Given the description of an element on the screen output the (x, y) to click on. 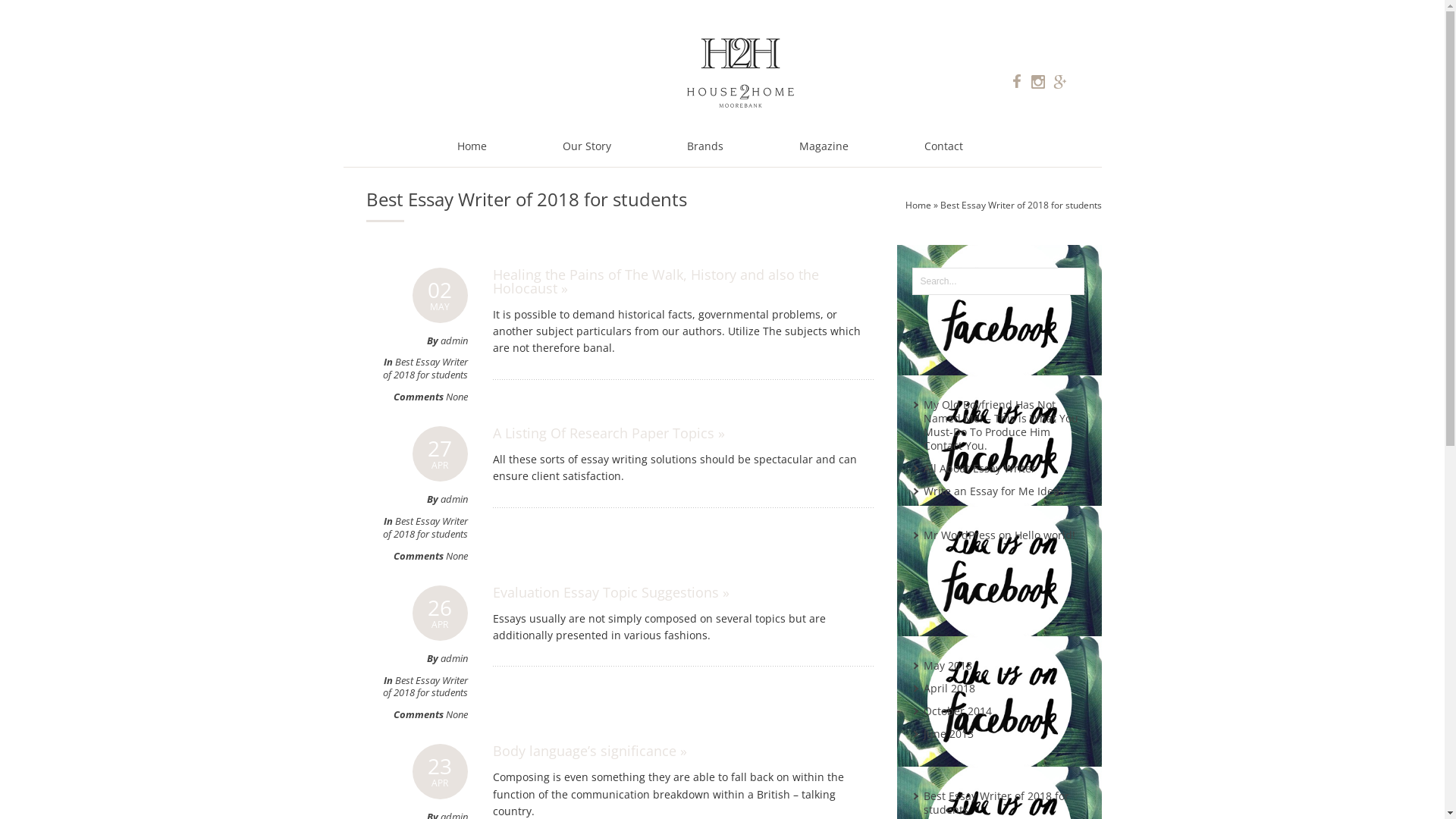
All About Essay Writer Element type: text (979, 468)
The Foolproof Essay Writer for Hire Strategy Element type: text (999, 521)
None Element type: text (456, 555)
None Element type: text (456, 714)
Best Essay Writer of 2018 for students Element type: text (996, 802)
Best Essay Writer of 2018 for students Element type: text (424, 527)
Contact Element type: text (942, 146)
None Element type: text (456, 396)
June 2013 Element type: text (948, 733)
Our Story Element type: text (586, 146)
Best Essay Writer of 2018 for students Element type: text (424, 367)
April 2018 Element type: text (949, 687)
Write an Essay for Me Ideas Element type: text (993, 490)
Home Element type: text (918, 204)
Top Essay Writing Services Tips! Element type: text (1004, 550)
Magazine Element type: text (823, 146)
Hello world! Element type: text (1044, 534)
October 2014 Element type: text (957, 710)
May 2018 Element type: text (947, 665)
Best Essay Writer of 2018 for students Element type: text (424, 686)
Home Element type: text (471, 146)
Brands Element type: text (705, 146)
Mr WordPress Element type: text (959, 534)
